Given the description of an element on the screen output the (x, y) to click on. 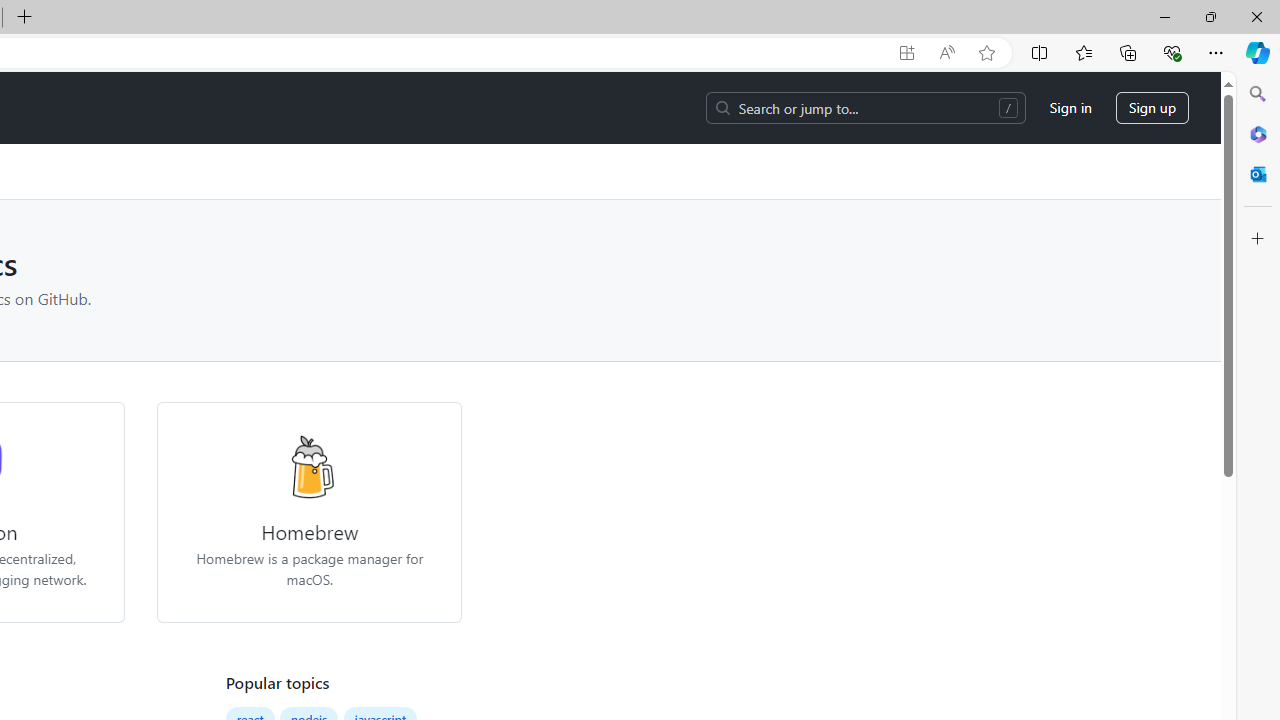
Sign up (1152, 107)
homebrew (308, 466)
Sign in (1070, 107)
